Given the description of an element on the screen output the (x, y) to click on. 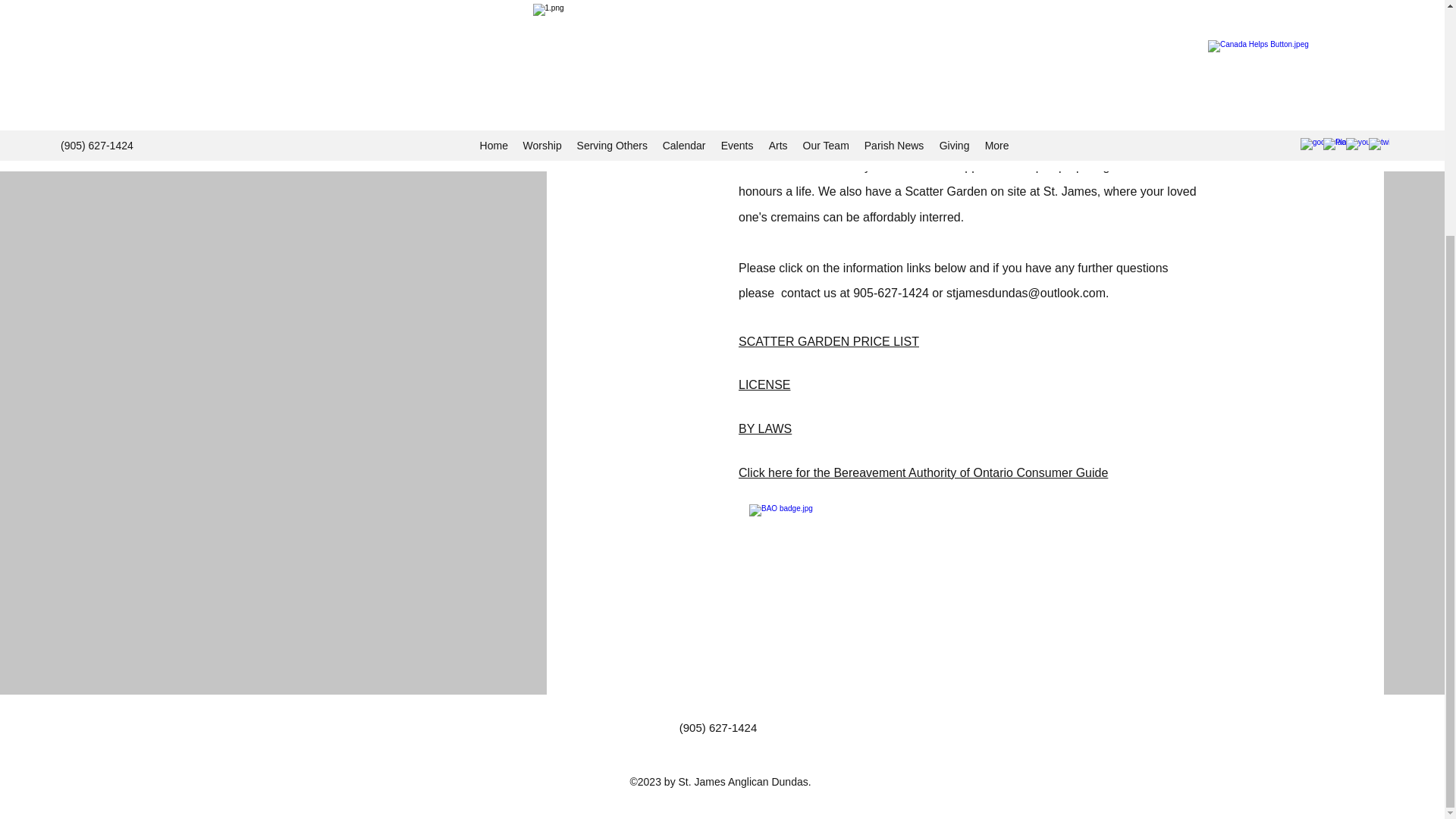
BY LAWS (765, 428)
LICENSE (764, 384)
SCATTER GARDEN PRICE LIST (828, 341)
